Given the description of an element on the screen output the (x, y) to click on. 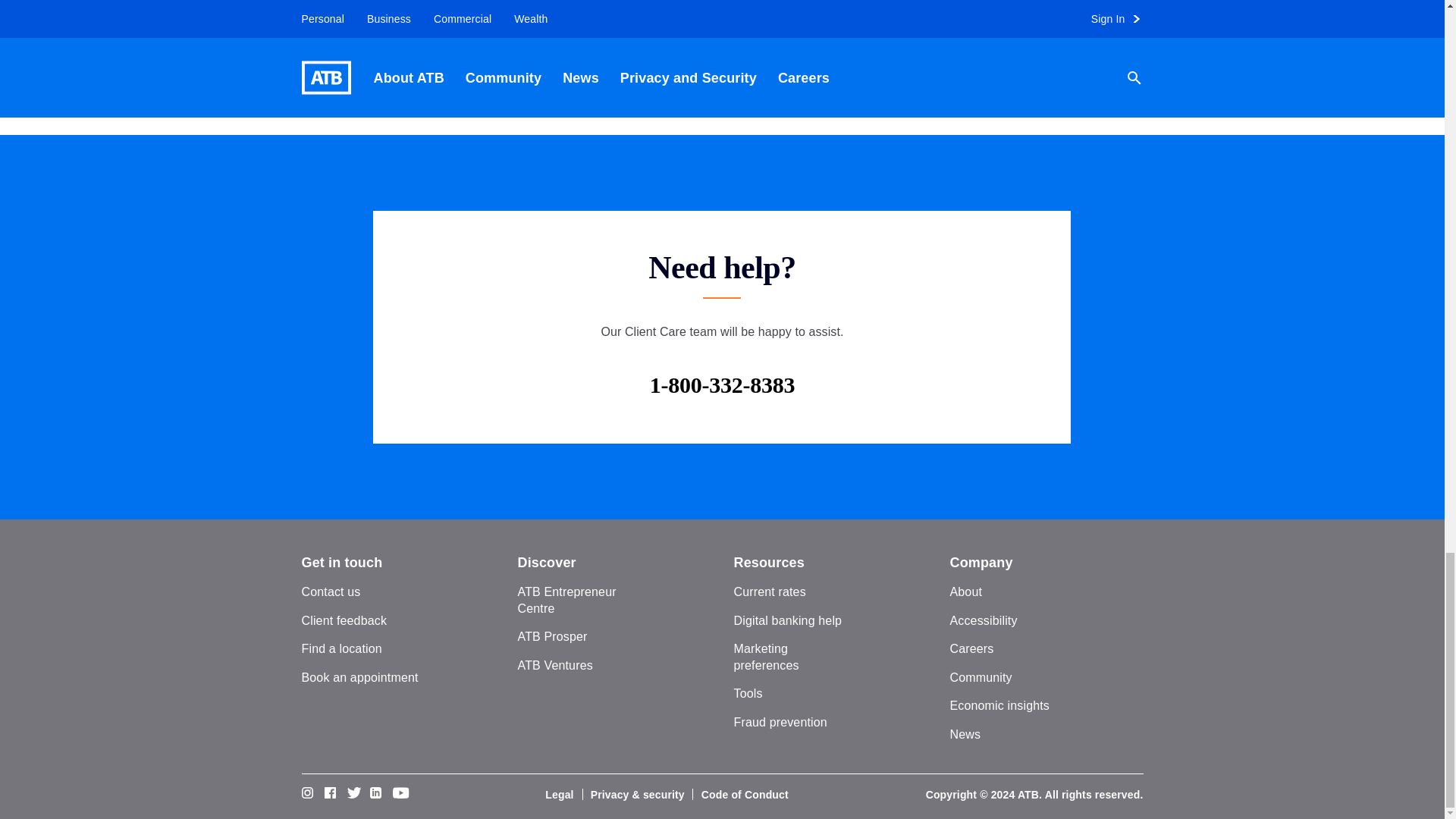
Client feedback (344, 620)
Digital banking help (788, 620)
Find a location (341, 648)
Fraud prevention (780, 721)
Tools (747, 693)
About (965, 591)
Current rates (769, 591)
ATB Entrepreneur Centre (565, 600)
ATB Prosper (551, 635)
Contact us (331, 591)
